Given the description of an element on the screen output the (x, y) to click on. 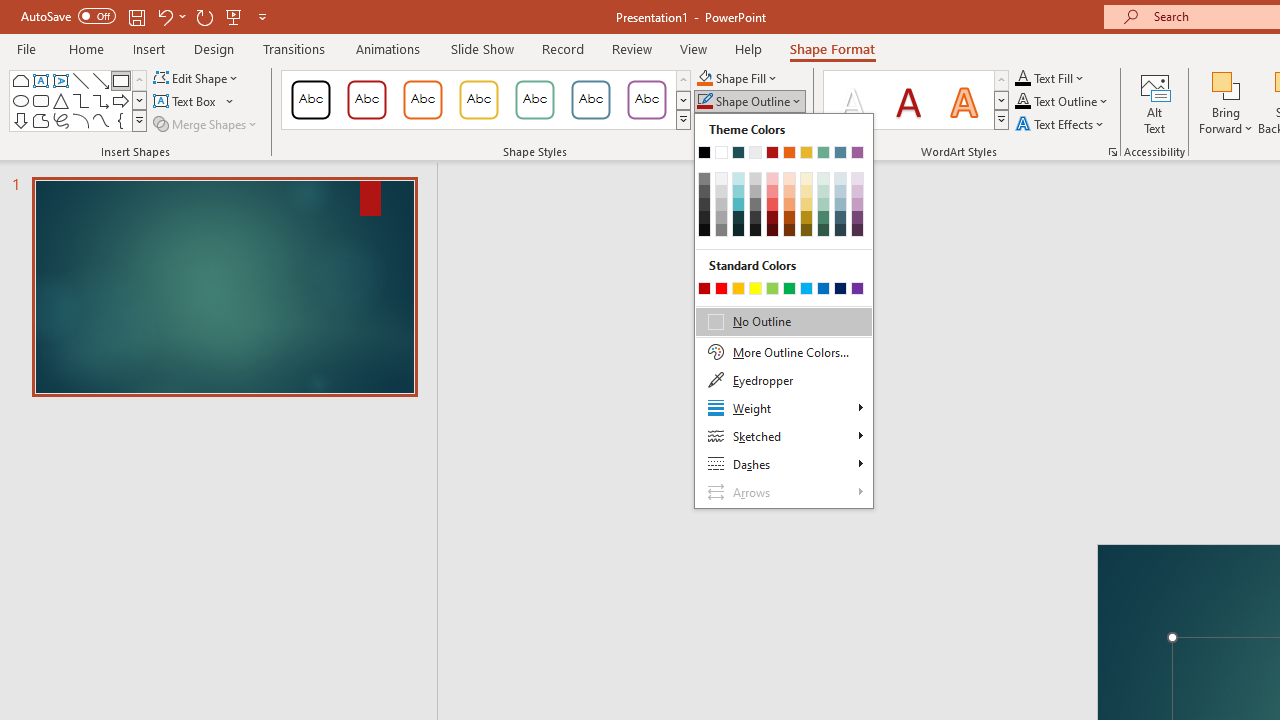
Rectangle: Top Corners Snipped (20, 80)
Colored Outline - Black, Dark 1 (310, 100)
Format Text Effects... (1112, 151)
Merge Shapes (206, 124)
